Given the description of an element on the screen output the (x, y) to click on. 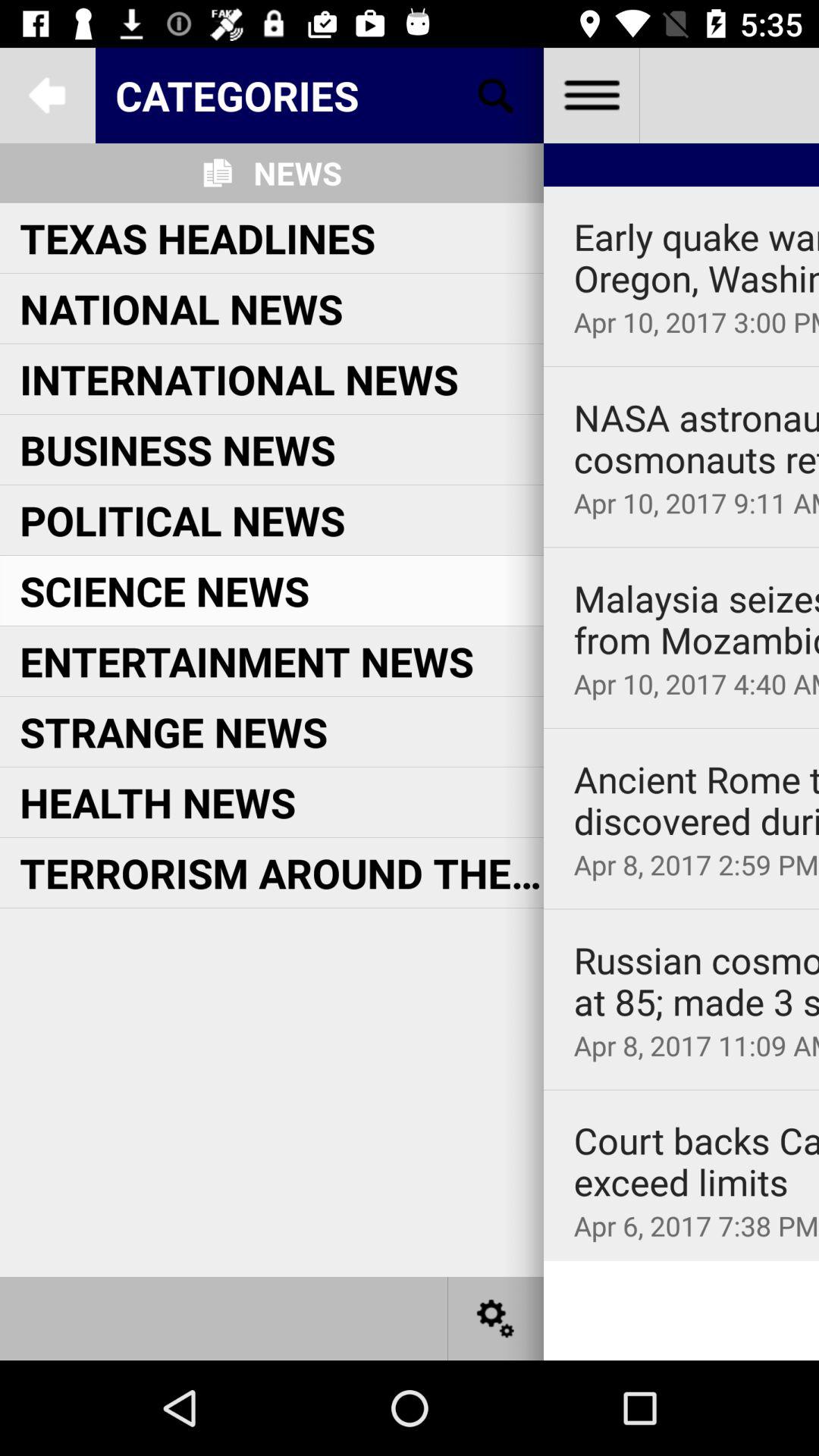
turn on terrorism around the at the center (281, 872)
